Given the description of an element on the screen output the (x, y) to click on. 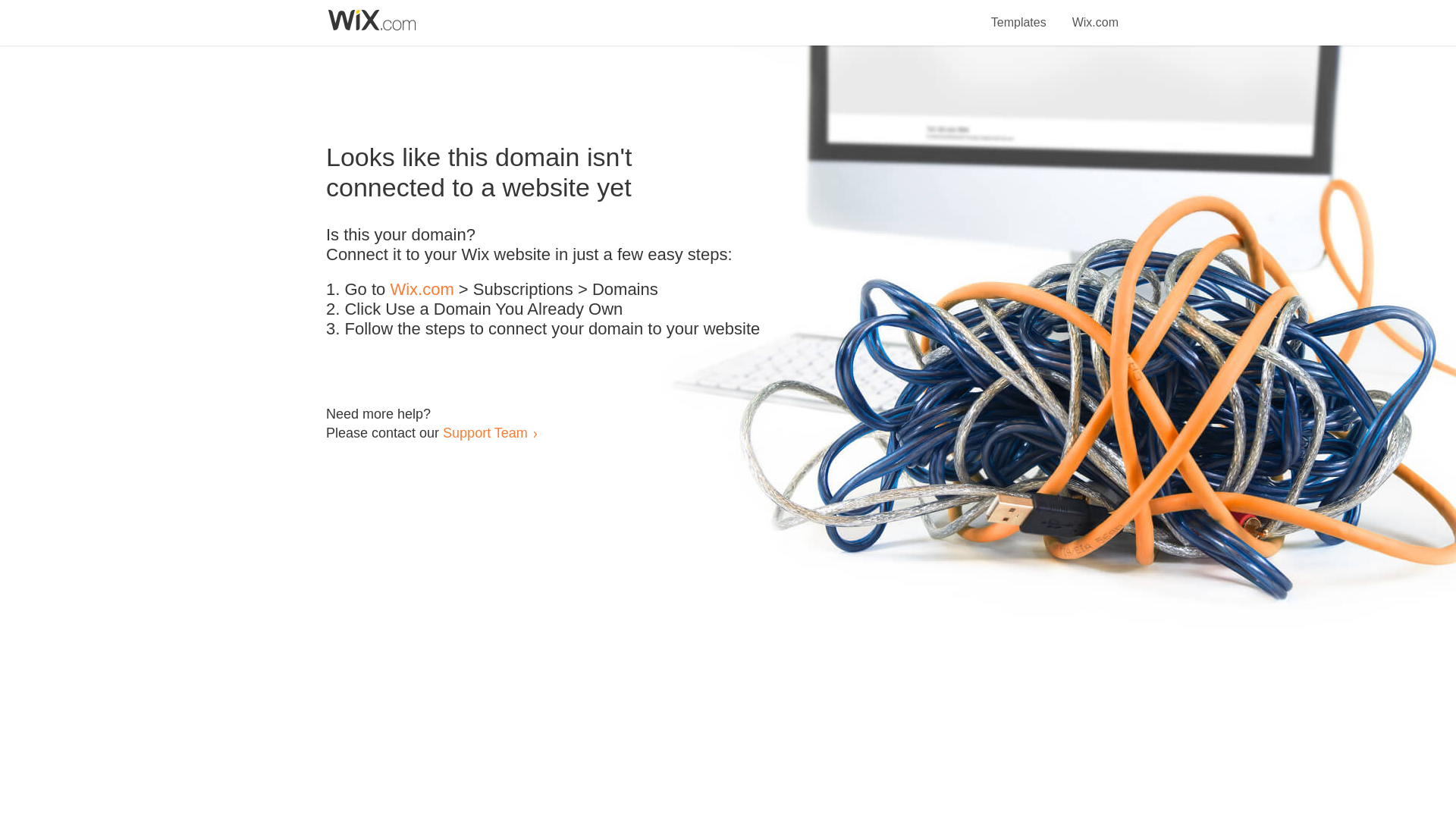
Wix.com (421, 289)
Support Team (484, 432)
Wix.com (1095, 14)
Templates (1018, 14)
